Given the description of an element on the screen output the (x, y) to click on. 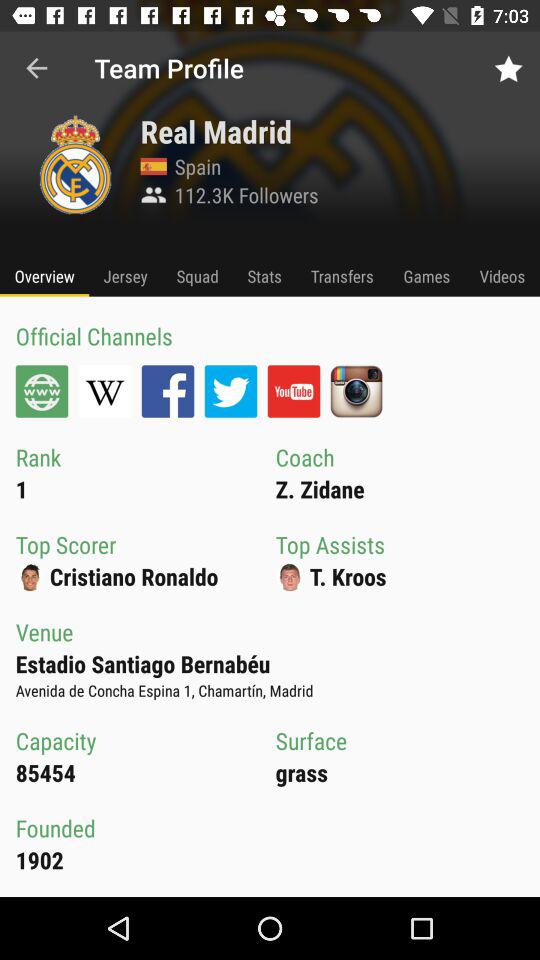
turn off icon next to the jersey icon (197, 276)
